Given the description of an element on the screen output the (x, y) to click on. 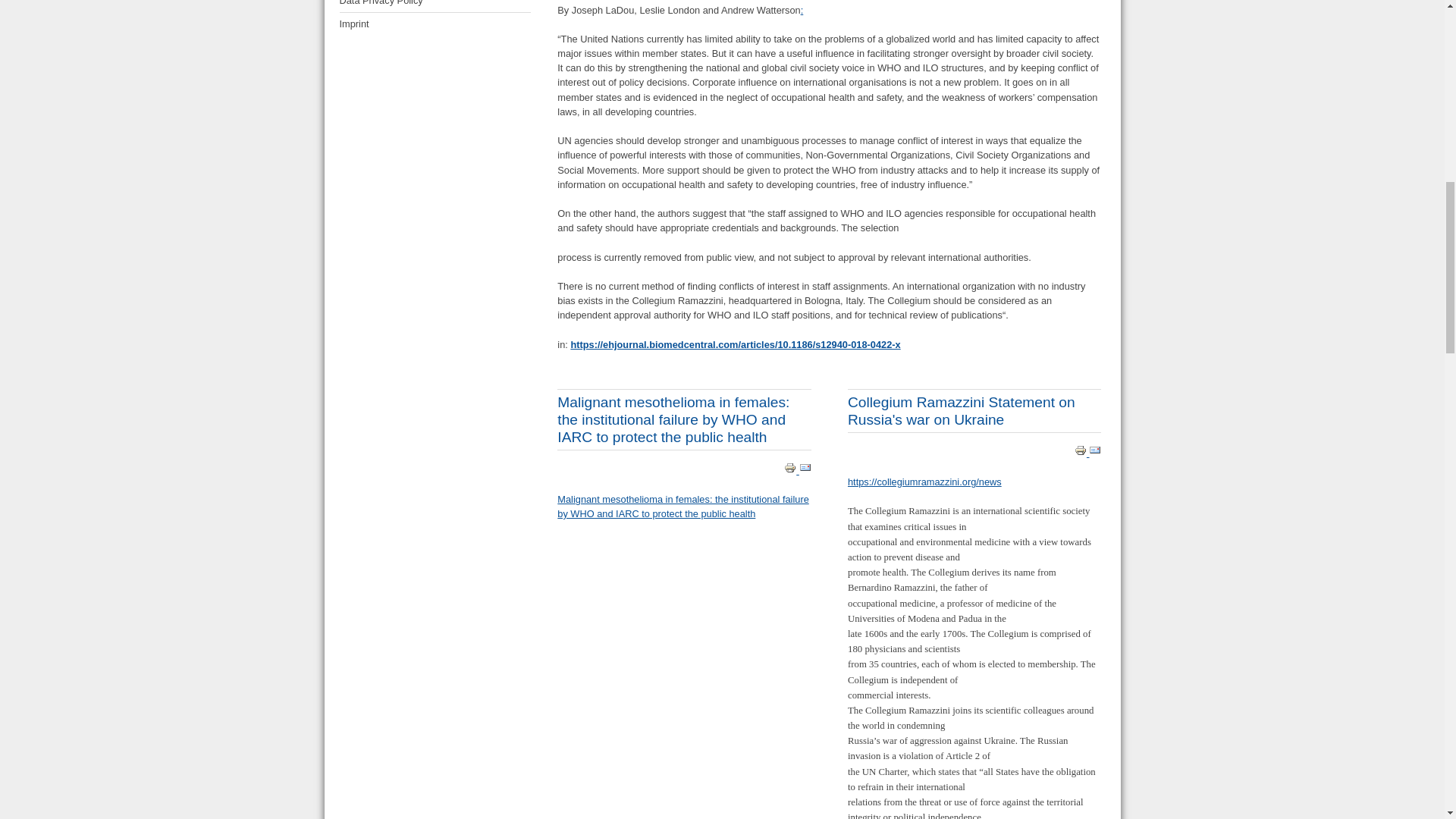
Collegium Ramazzini Statement on Russia's war on Ukraine (961, 410)
Email this link to a friend (1094, 452)
CR statement on Russia's war on Ukraine (924, 481)
Email this link to a friend (804, 470)
Data Privacy Policy (435, 6)
Imprint (435, 24)
